Given the description of an element on the screen output the (x, y) to click on. 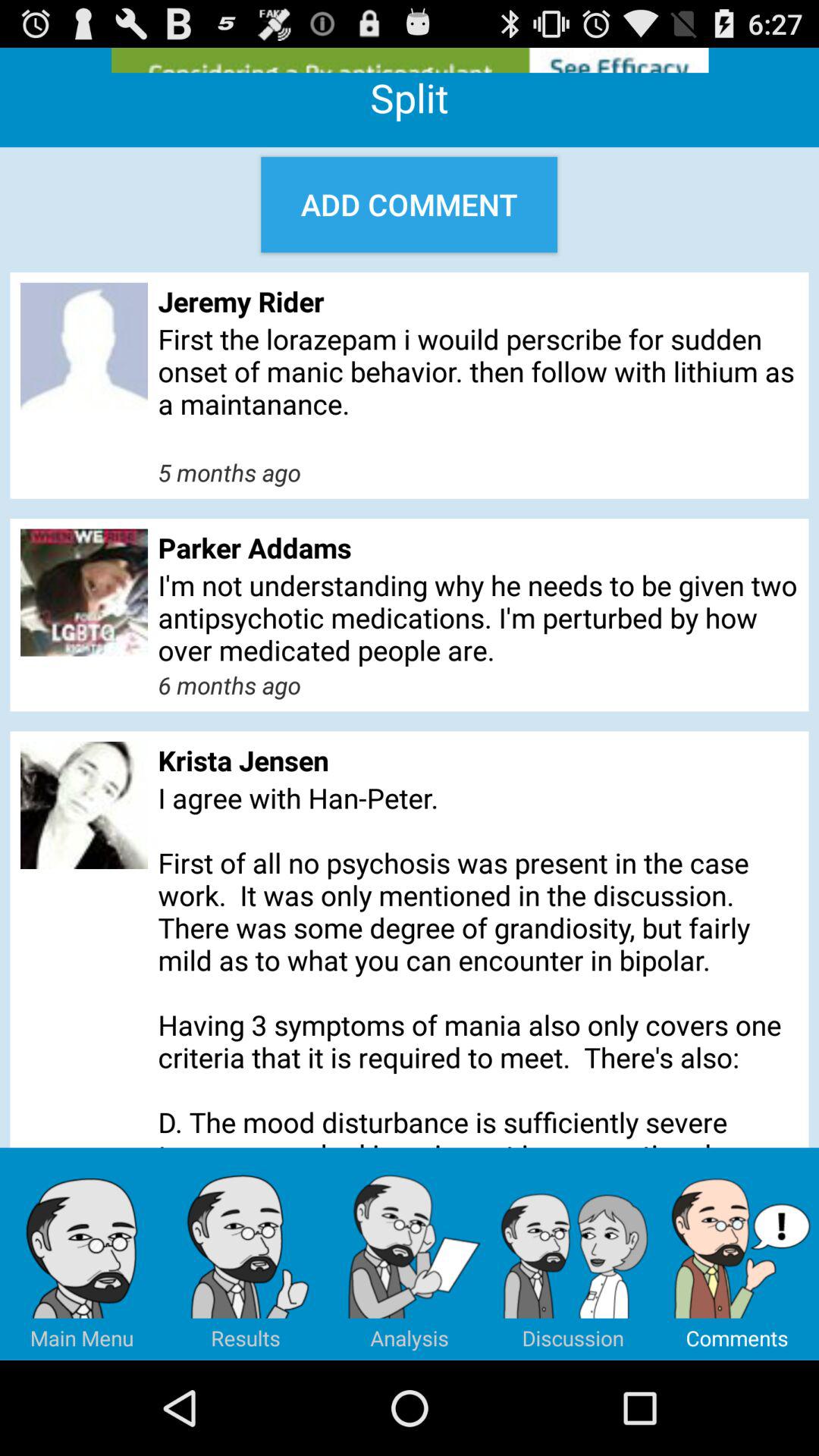
turn off the item at the bottom (409, 1253)
